Given the description of an element on the screen output the (x, y) to click on. 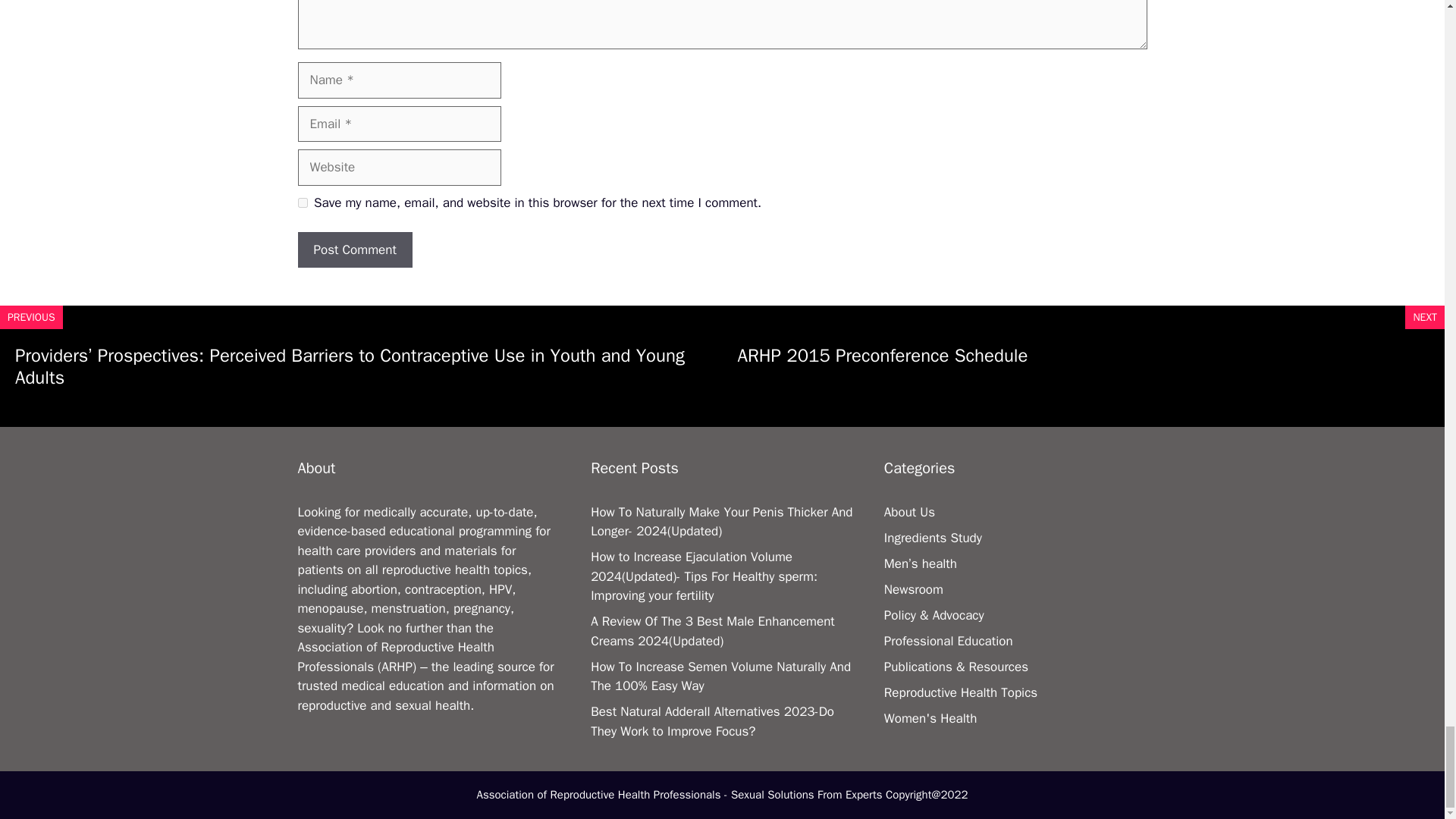
Post Comment (354, 249)
yes (302, 203)
